Given the description of an element on the screen output the (x, y) to click on. 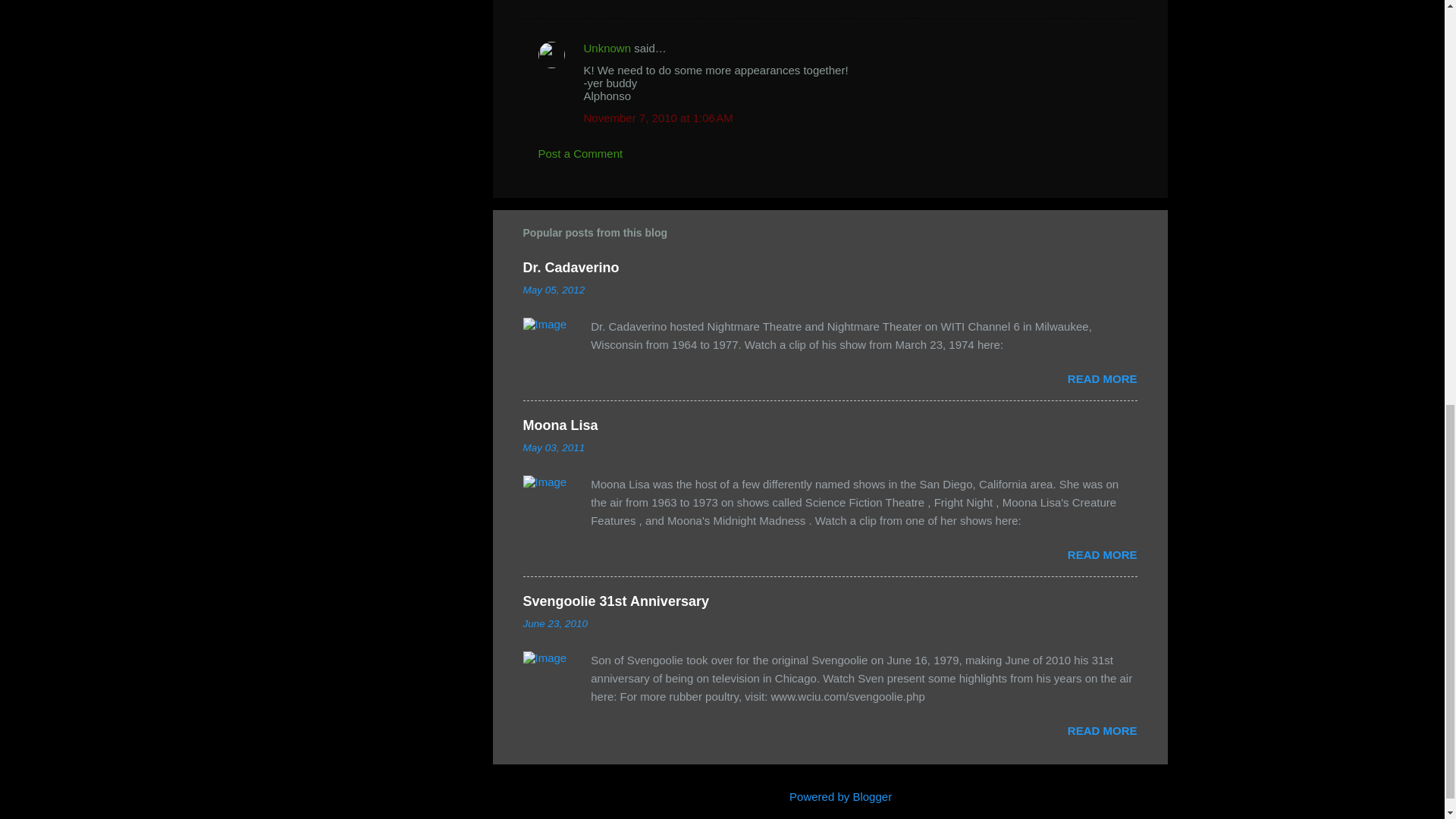
Unknown (607, 47)
READ MORE (1102, 378)
May 03, 2011 (553, 447)
Svengoolie 31st Anniversary (615, 601)
READ MORE (1102, 554)
Powered by Blogger (829, 796)
May 05, 2012 (553, 289)
comment permalink (658, 117)
June 23, 2010 (555, 623)
Moona Lisa (560, 425)
Post a Comment (580, 153)
Dr. Cadaverino (571, 267)
READ MORE (1102, 730)
